Given the description of an element on the screen output the (x, y) to click on. 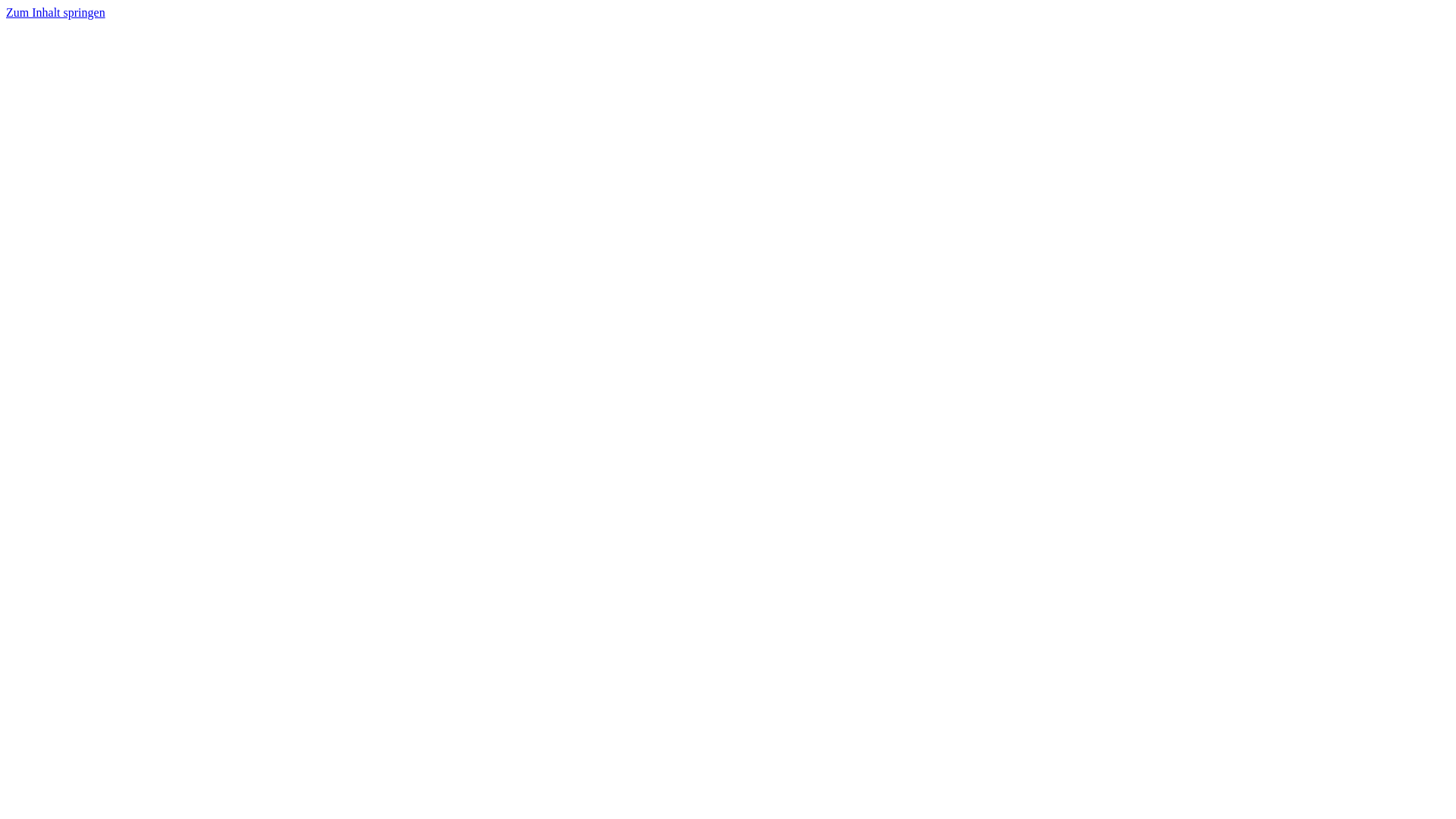
Zum Inhalt springen Element type: text (55, 12)
